Given the description of an element on the screen output the (x, y) to click on. 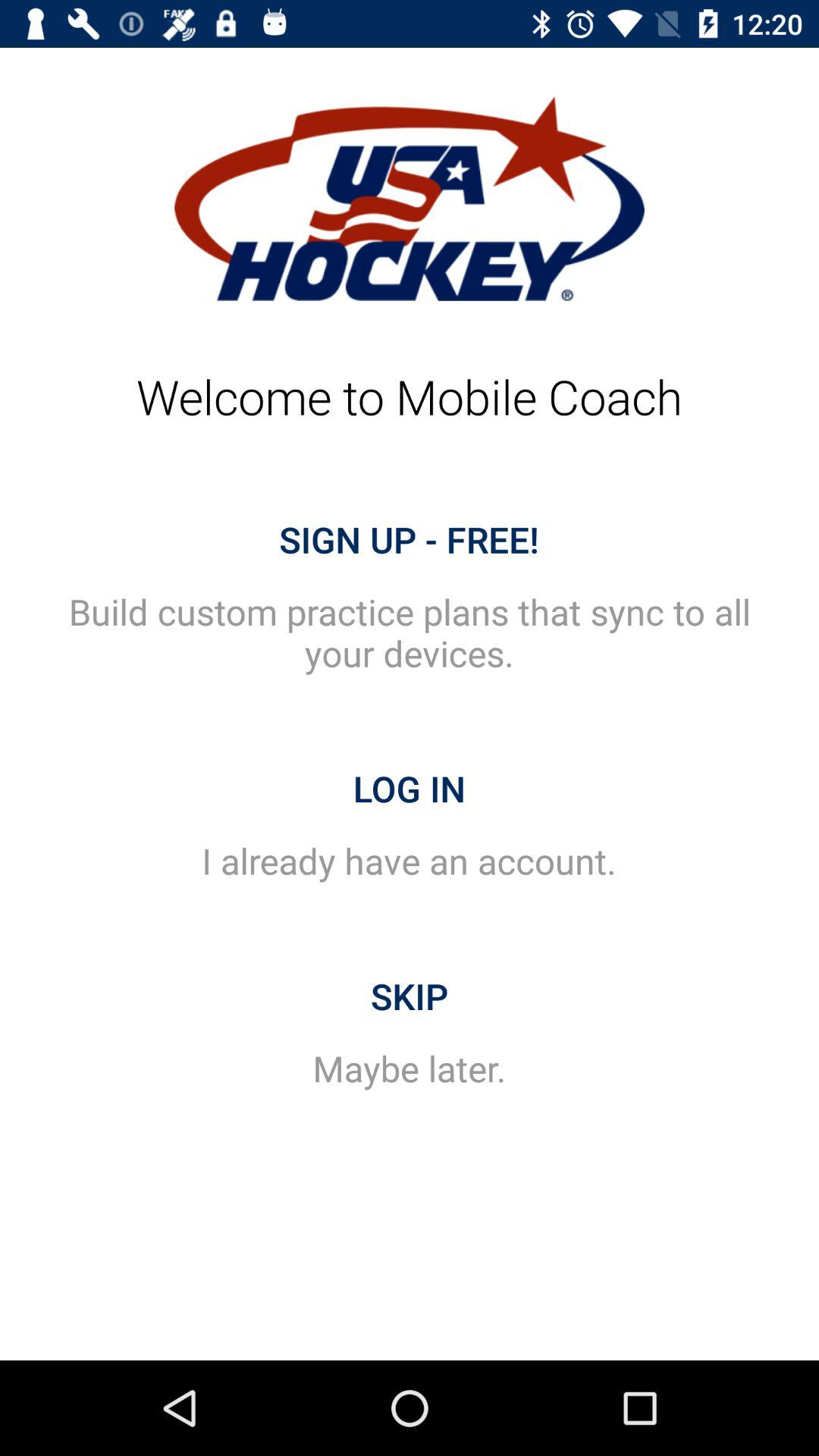
choose icon below welcome to mobile (409, 539)
